Given the description of an element on the screen output the (x, y) to click on. 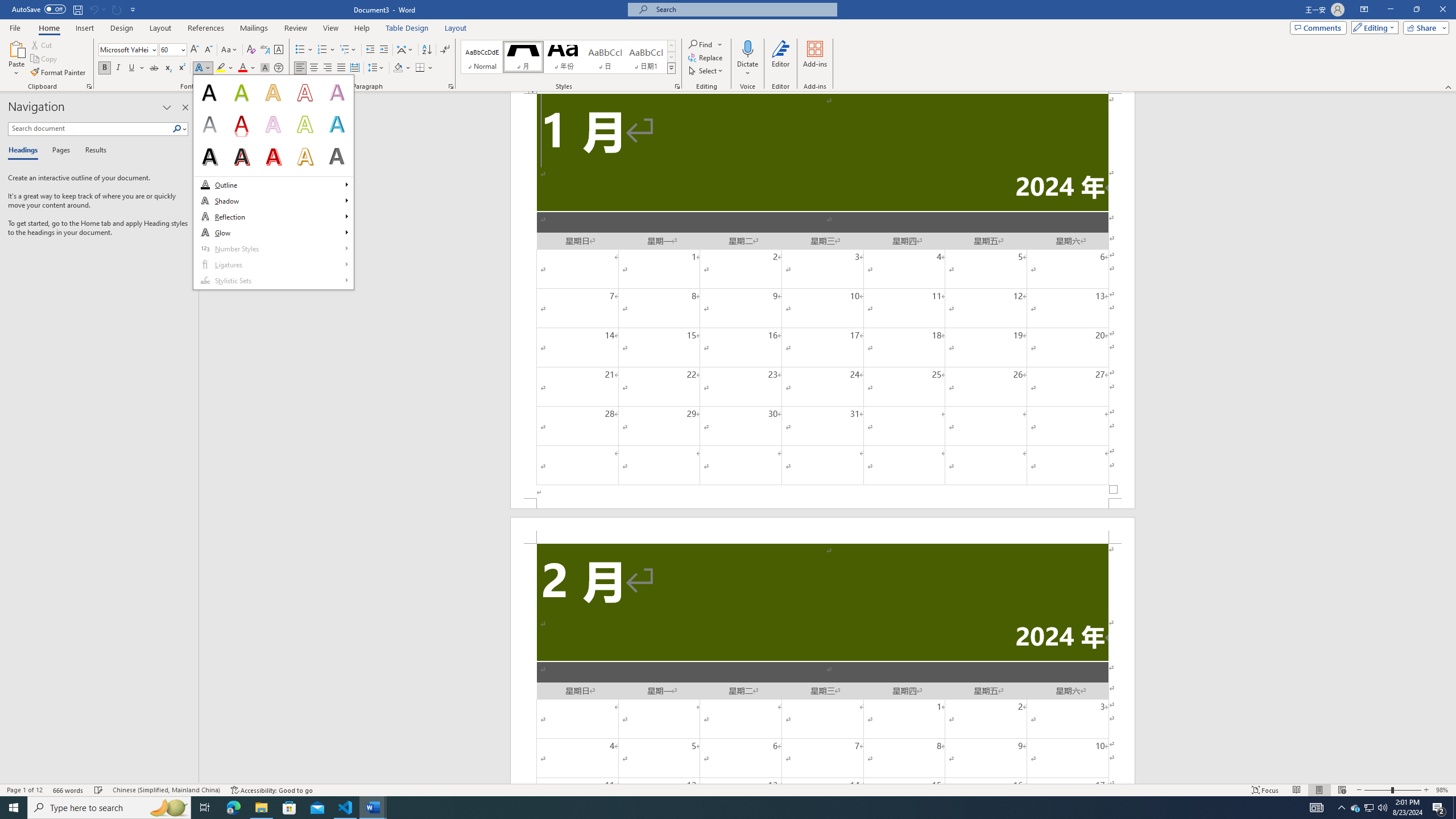
Can't Undo (96, 9)
